Given the description of an element on the screen output the (x, y) to click on. 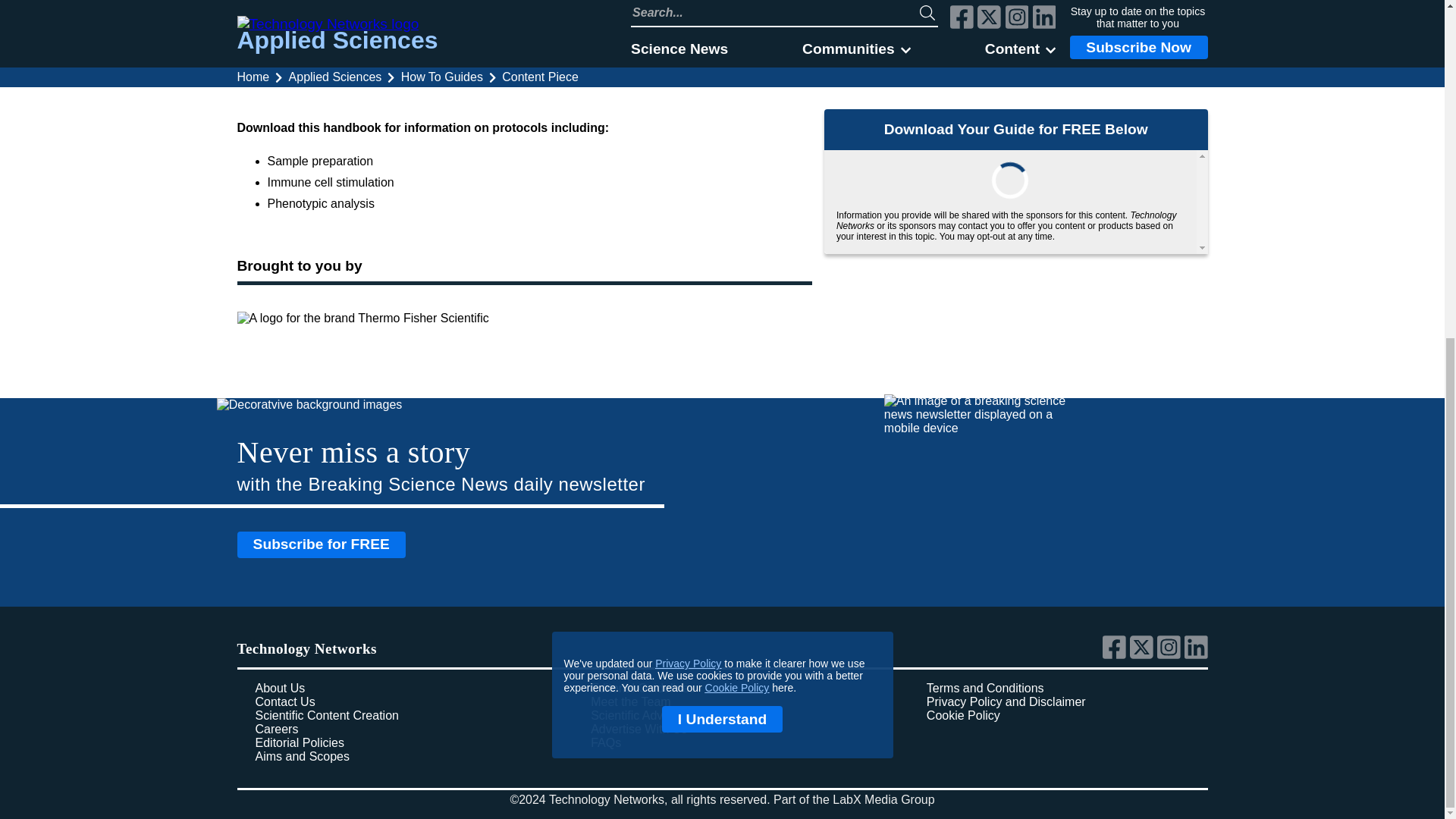
Link to Technology Networks' twitter page (1143, 655)
I Understand (722, 149)
Link to Technology Networks' instagram page (1171, 655)
Cookie Policy (737, 118)
Privacy Policy (687, 93)
Link to Technology Networks' facebook page (1115, 655)
Link to Technology Networks' linkedin page (1196, 655)
